Given the description of an element on the screen output the (x, y) to click on. 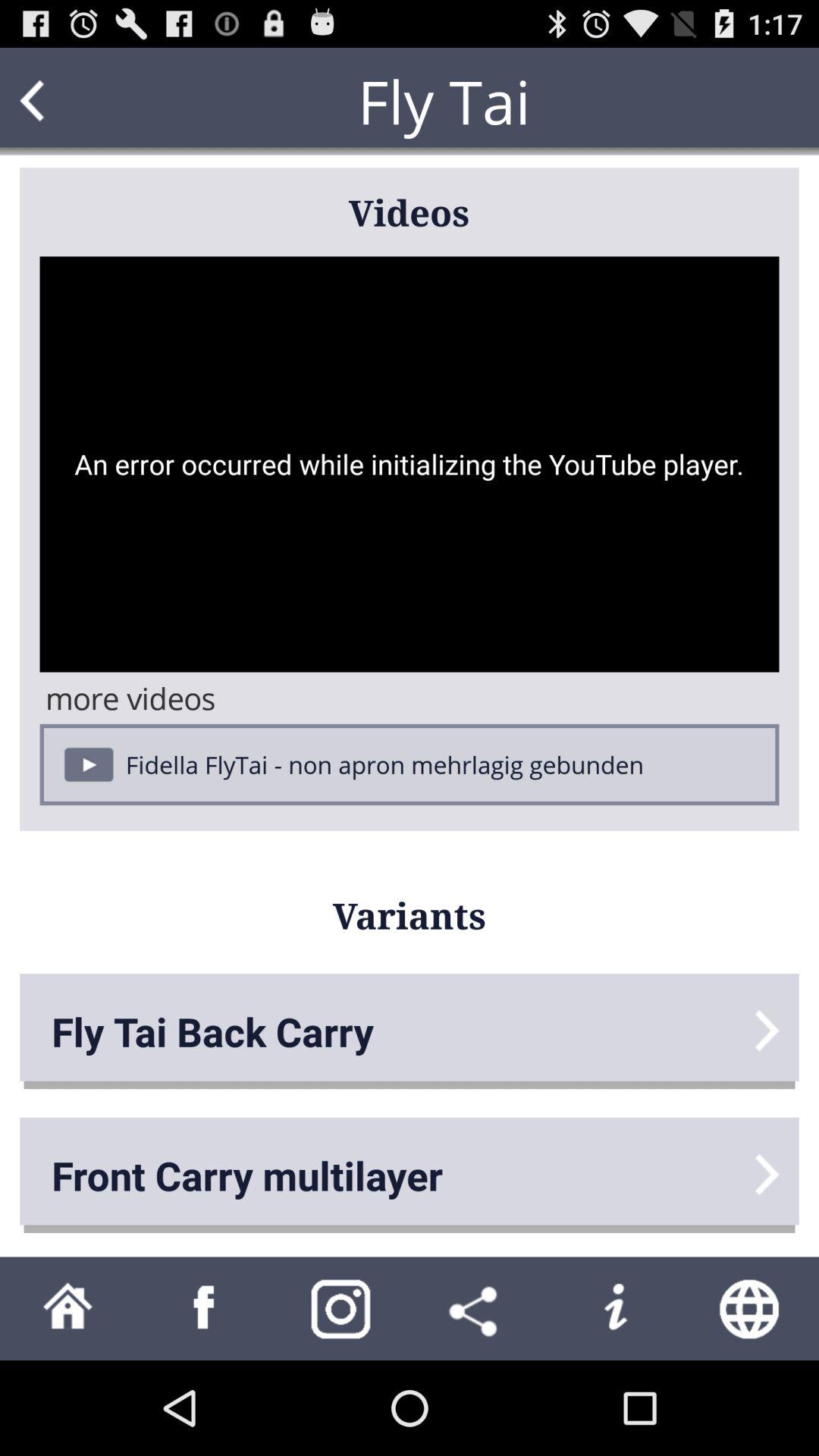
launch the app to the left of the fly tai item (61, 101)
